Given the description of an element on the screen output the (x, y) to click on. 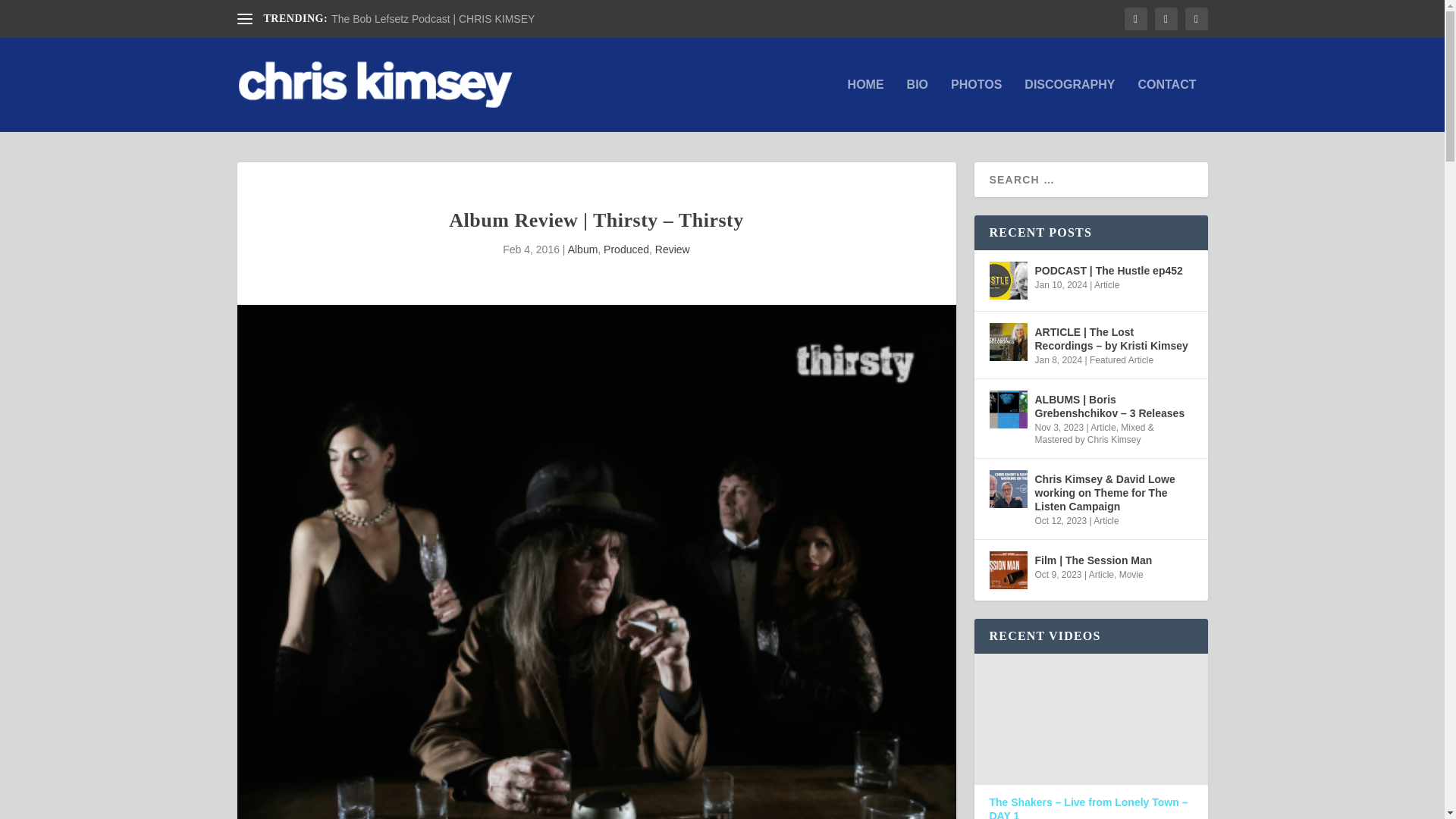
PHOTOS (975, 104)
DISCOGRAPHY (1070, 104)
CONTACT (1166, 104)
Album (582, 249)
Review (672, 249)
Produced (626, 249)
